Given the description of an element on the screen output the (x, y) to click on. 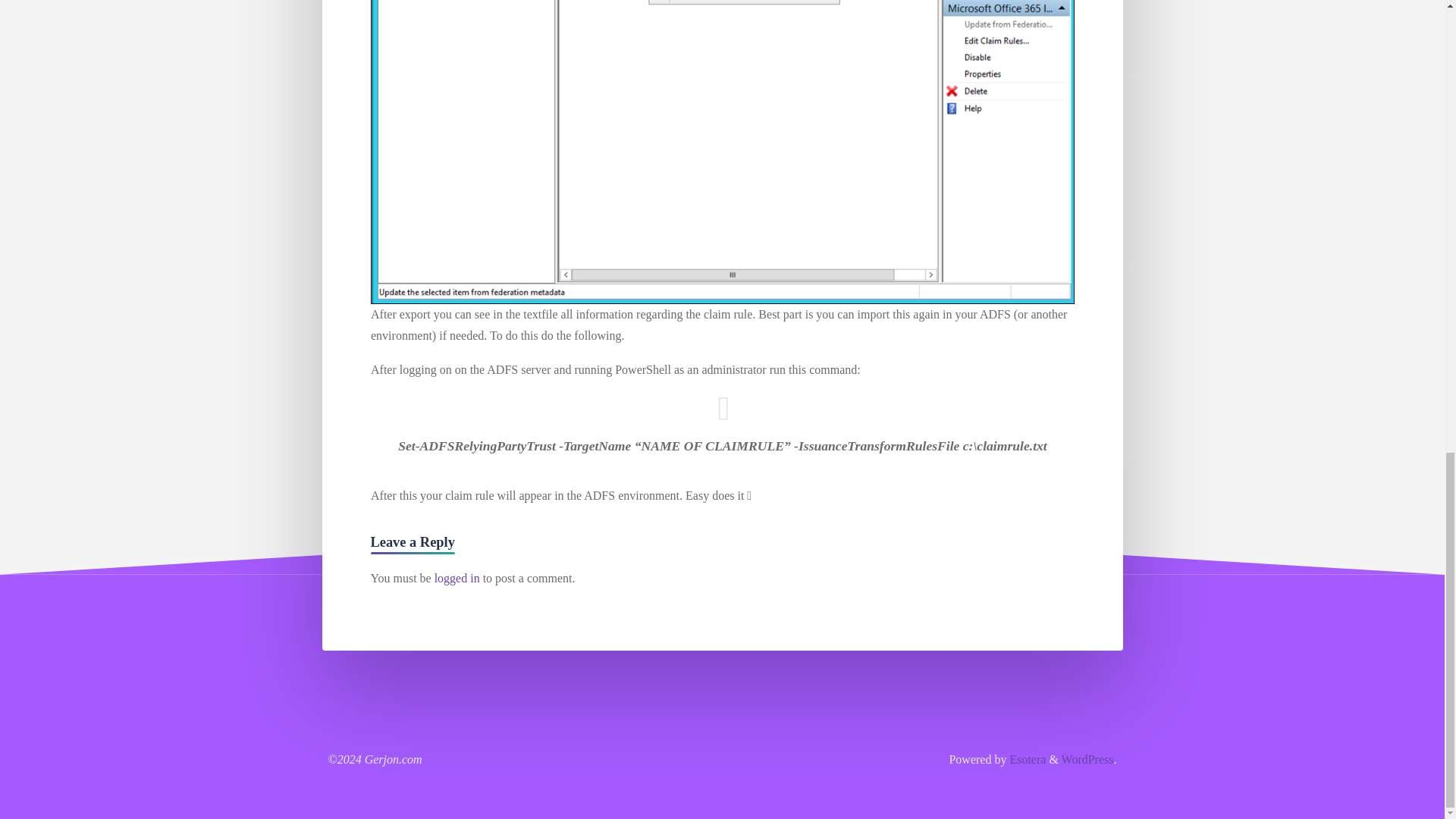
Semantic Personal Publishing Platform (1087, 758)
Esotera WordPress Theme by Cryout Creations (1025, 758)
